Given the description of an element on the screen output the (x, y) to click on. 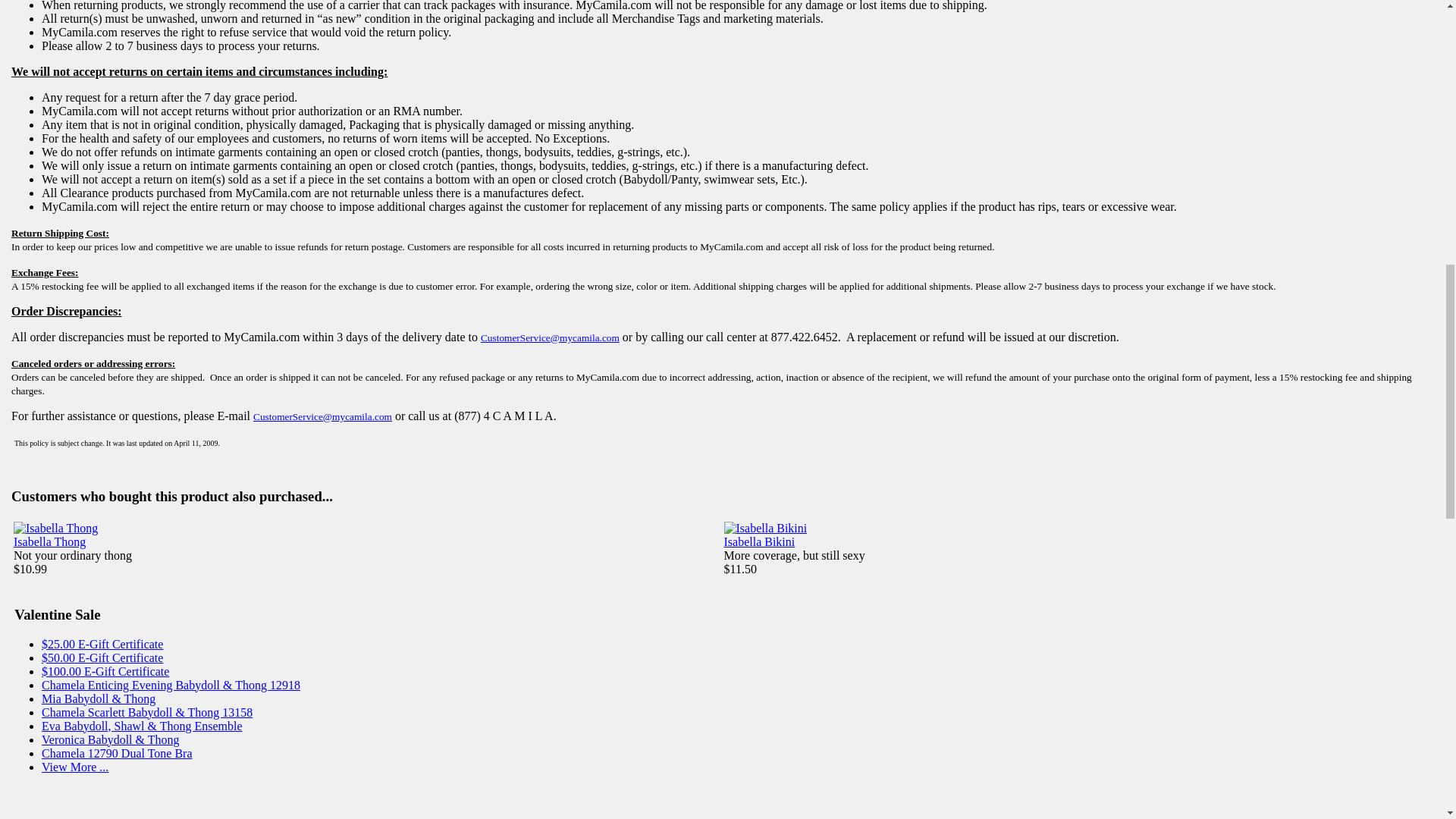
Chamela 12790 Dual Tone Bra (117, 753)
View More ... (74, 766)
Isabella Thong (49, 541)
Isabella Bikini (758, 541)
Isabella Thong (55, 528)
Isabella Thong (49, 541)
Isabella Bikini (758, 541)
Isabella Bikini (764, 528)
